Given the description of an element on the screen output the (x, y) to click on. 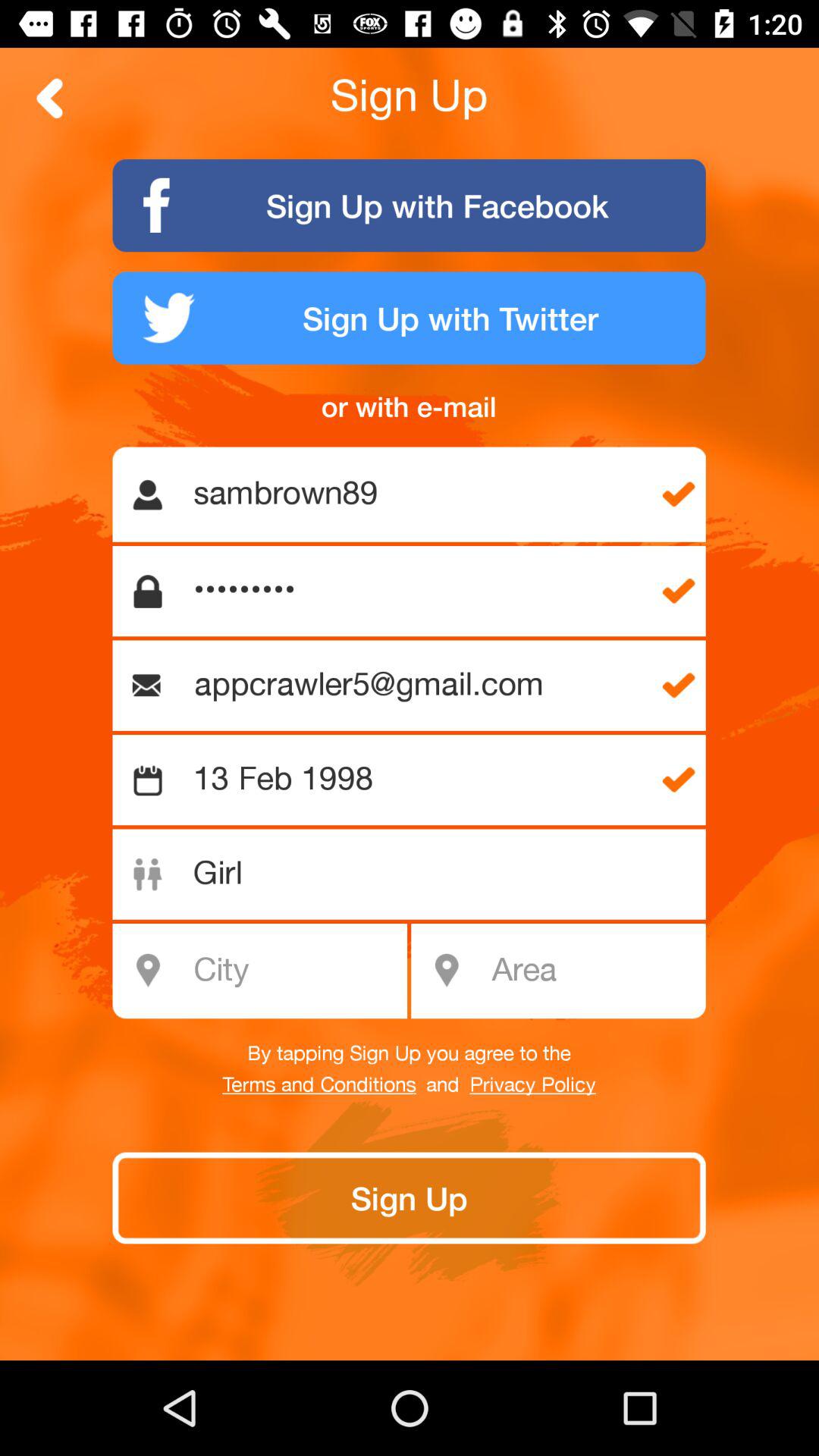
turn on privacy policy icon (532, 1085)
